Given the description of an element on the screen output the (x, y) to click on. 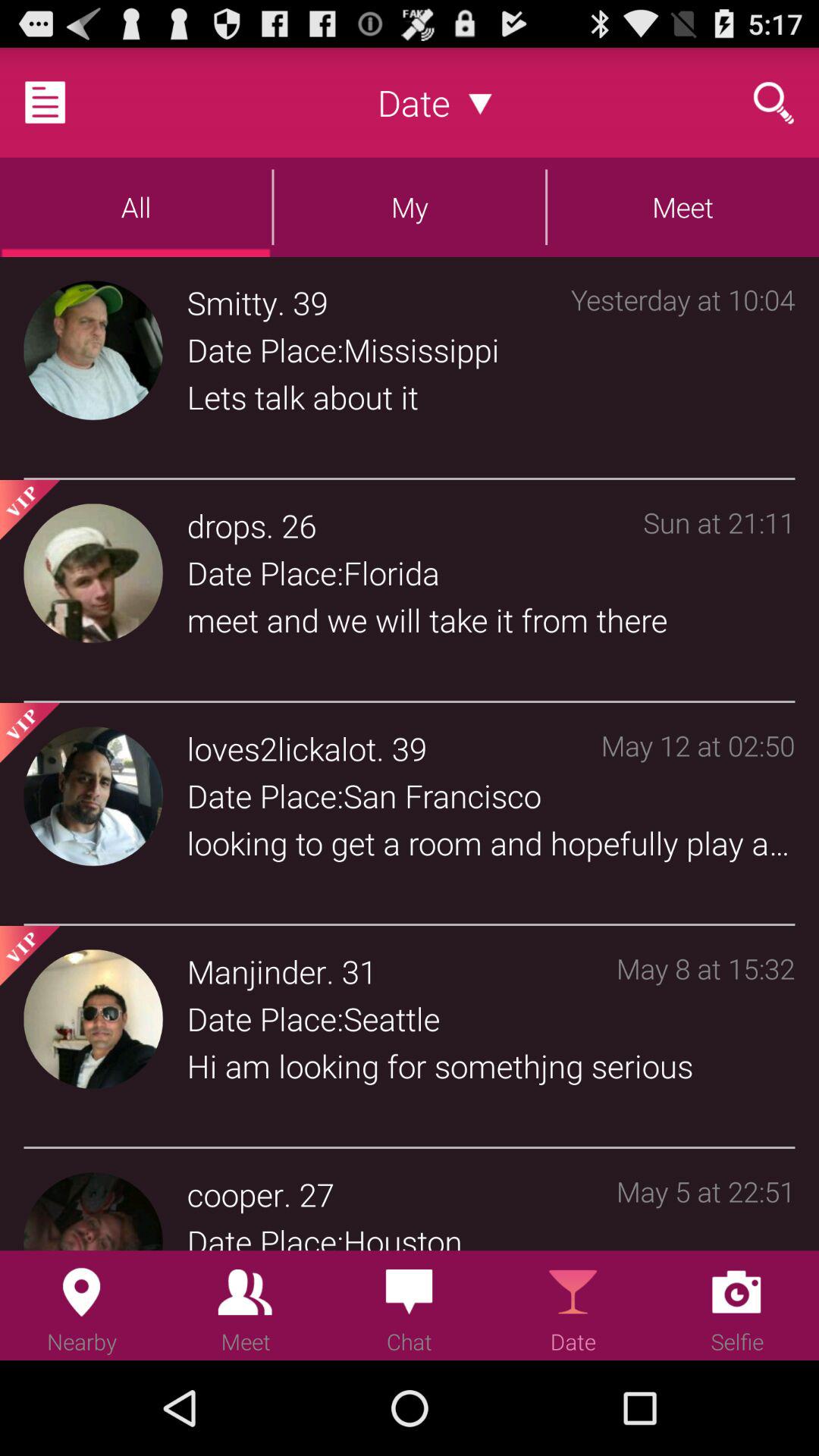
turn off sun at 21 (719, 593)
